Given the description of an element on the screen output the (x, y) to click on. 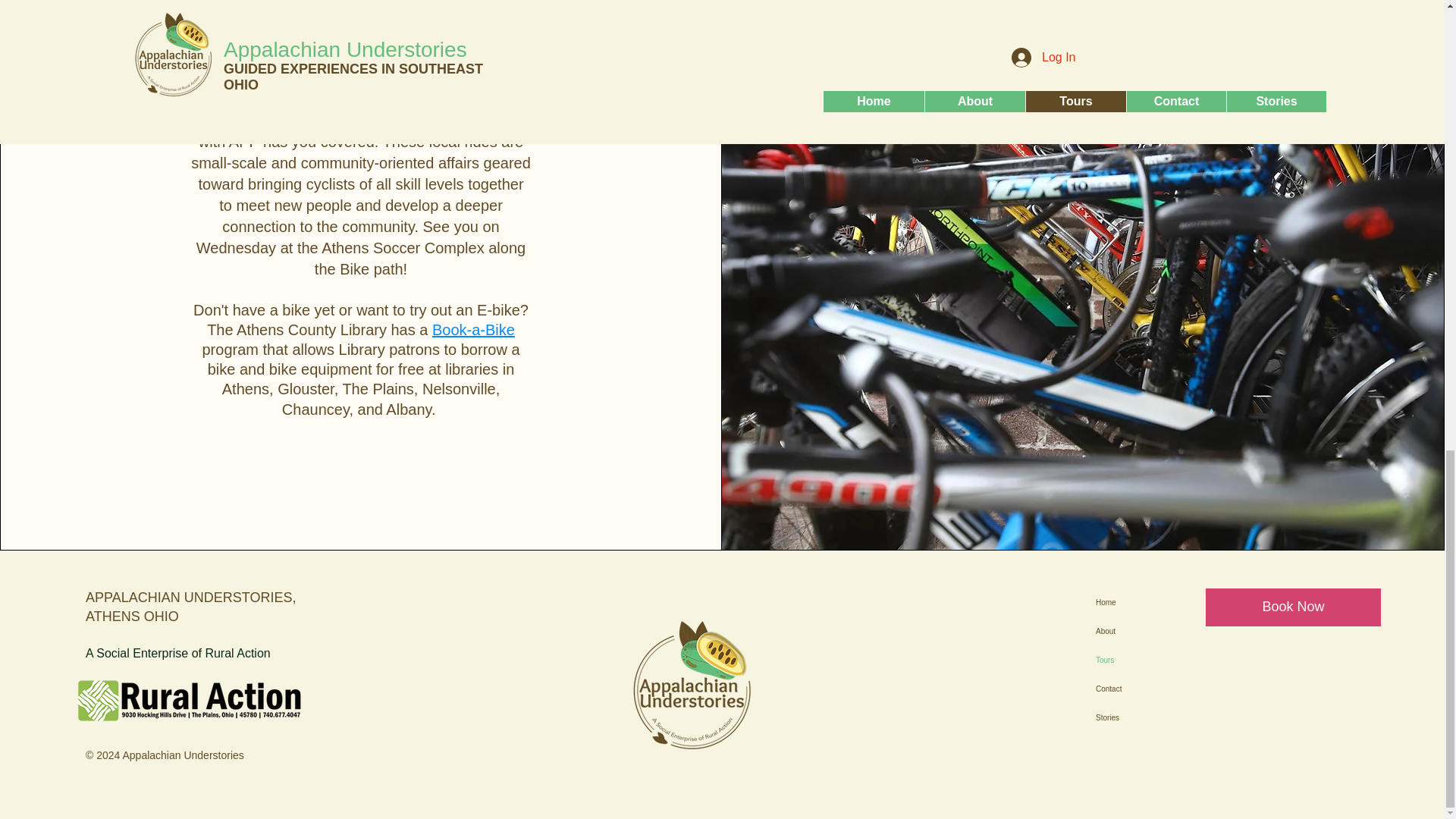
Tours (1179, 660)
Book Now (1292, 607)
Home (1179, 602)
ATHENS (112, 616)
About (1179, 631)
APPALACHIAN UNDERSTORIES, (190, 597)
Book-a-Bike (473, 329)
Contact (1179, 688)
OHIO (161, 616)
Stories (1179, 717)
